Given the description of an element on the screen output the (x, y) to click on. 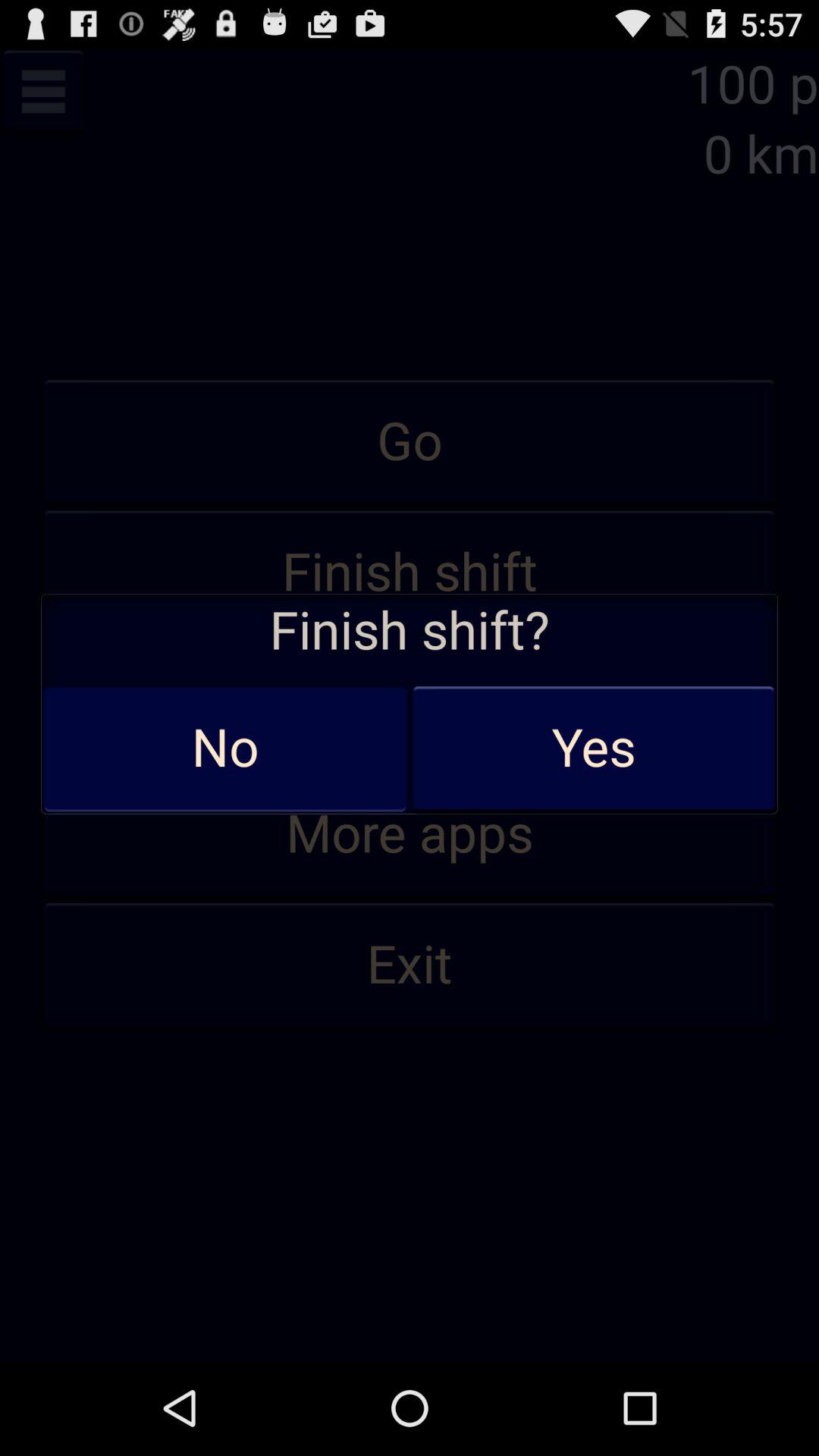
turn on the icon below the finish shift? item (224, 748)
